Given the description of an element on the screen output the (x, y) to click on. 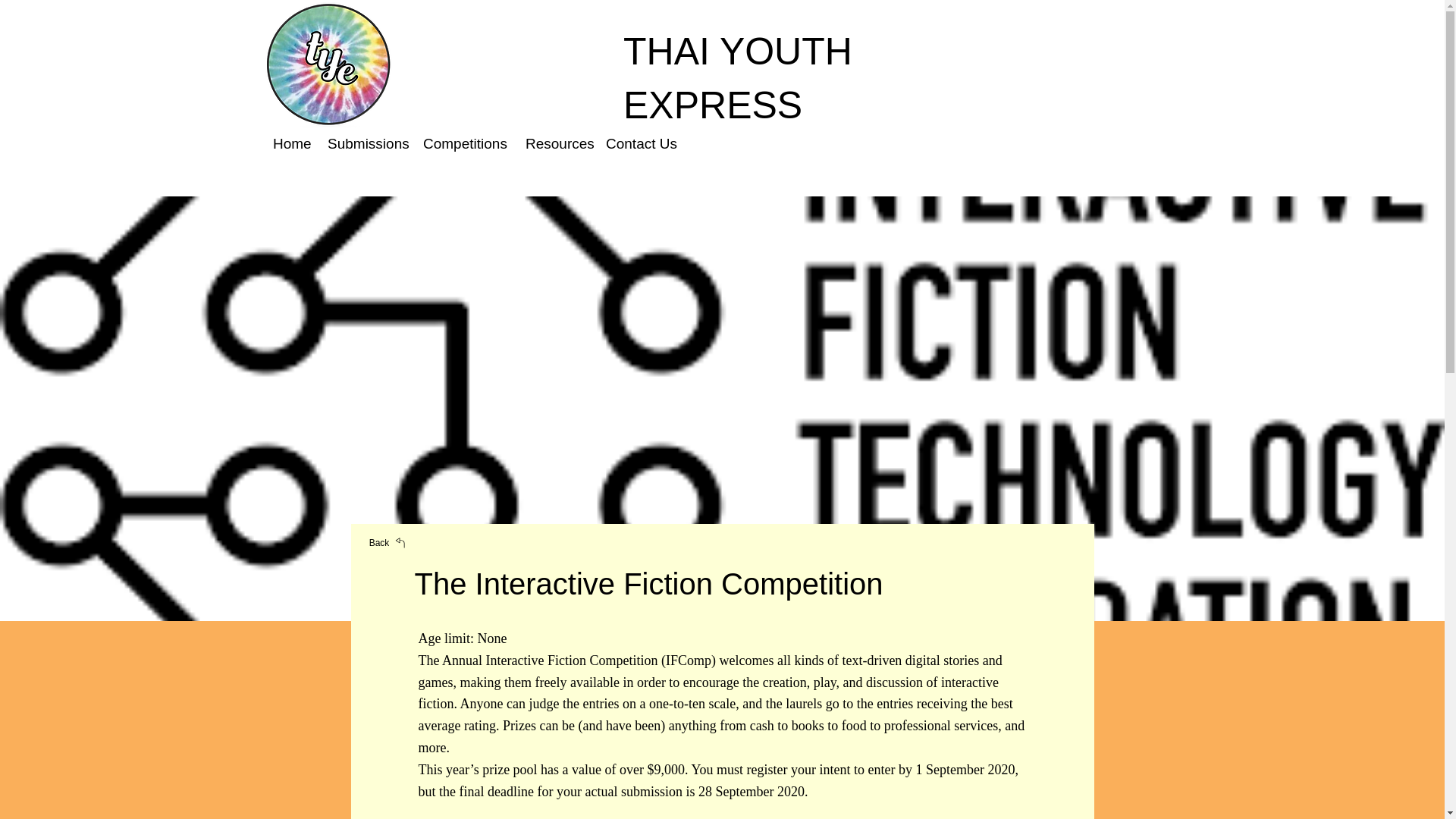
Contact Us (640, 143)
Competitions (466, 143)
Home (292, 143)
Back (388, 542)
THAI YOUTH EXPRESS (737, 78)
Resources (558, 143)
Submissions (367, 143)
